Given the description of an element on the screen output the (x, y) to click on. 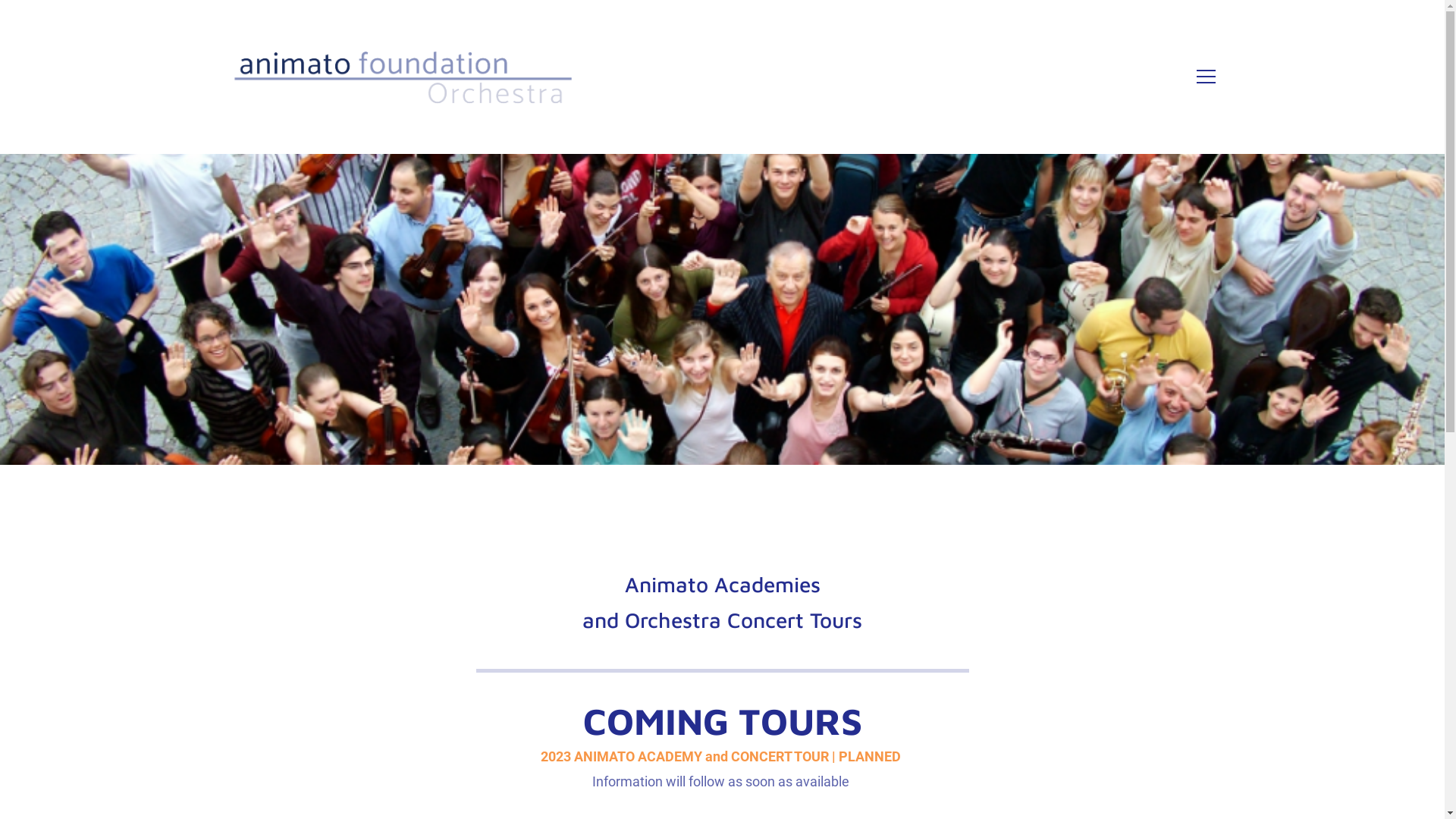
Menu Element type: text (1205, 76)
